Given the description of an element on the screen output the (x, y) to click on. 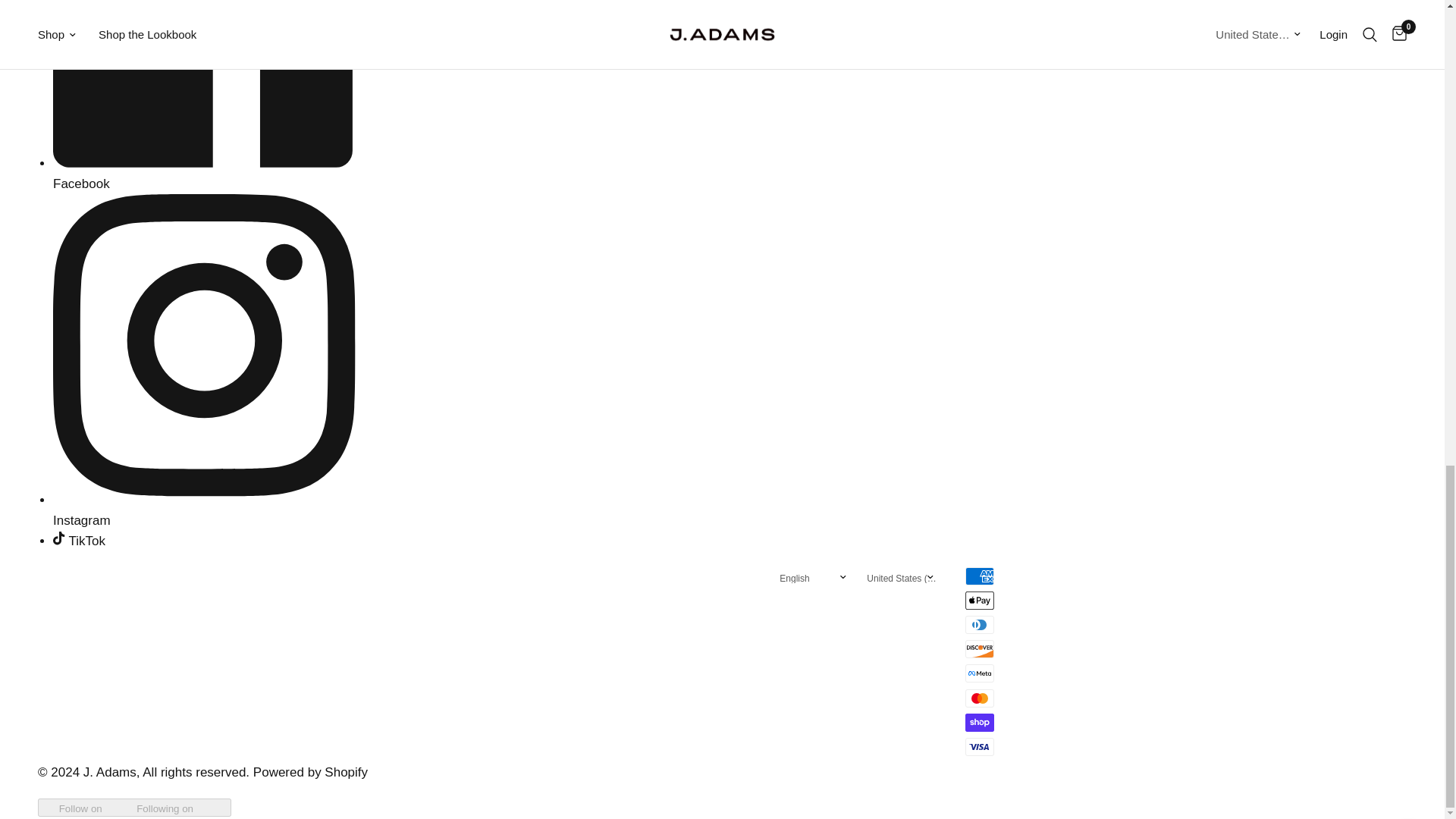
American Express (979, 576)
Apple Pay (979, 600)
Discover (979, 648)
Diners Club (979, 624)
